Given the description of an element on the screen output the (x, y) to click on. 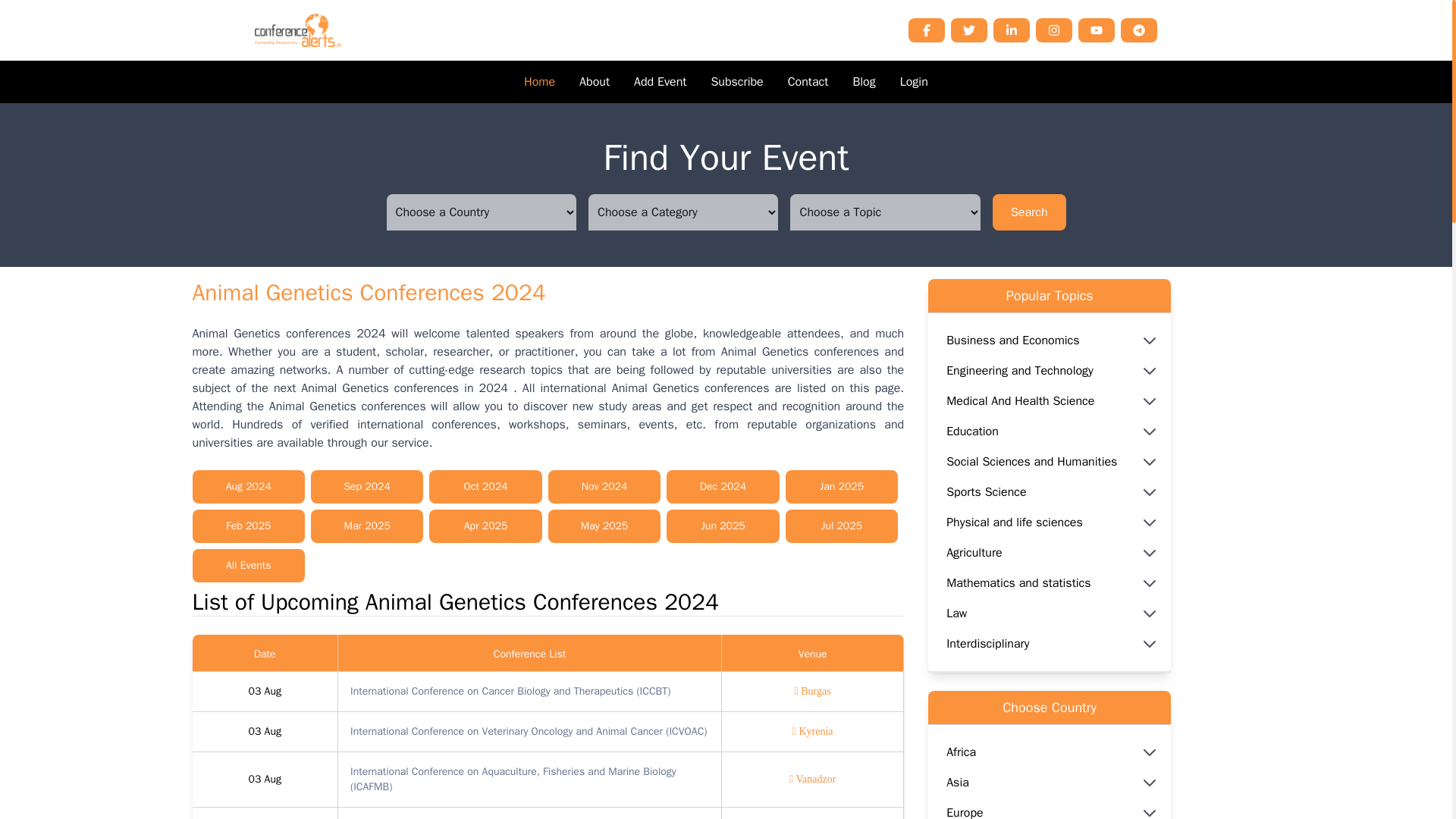
Feb 2025 (248, 525)
Aug (272, 690)
Jan 2025 (842, 486)
Aug 2024 (248, 486)
Kyrenia (812, 730)
Contact (807, 81)
Add Event (659, 81)
May 2025 (604, 525)
Subscribe (736, 81)
Search (1028, 212)
Mar 2025 (367, 525)
Login (913, 81)
About (594, 81)
Aug (272, 779)
03 (256, 690)
